Given the description of an element on the screen output the (x, y) to click on. 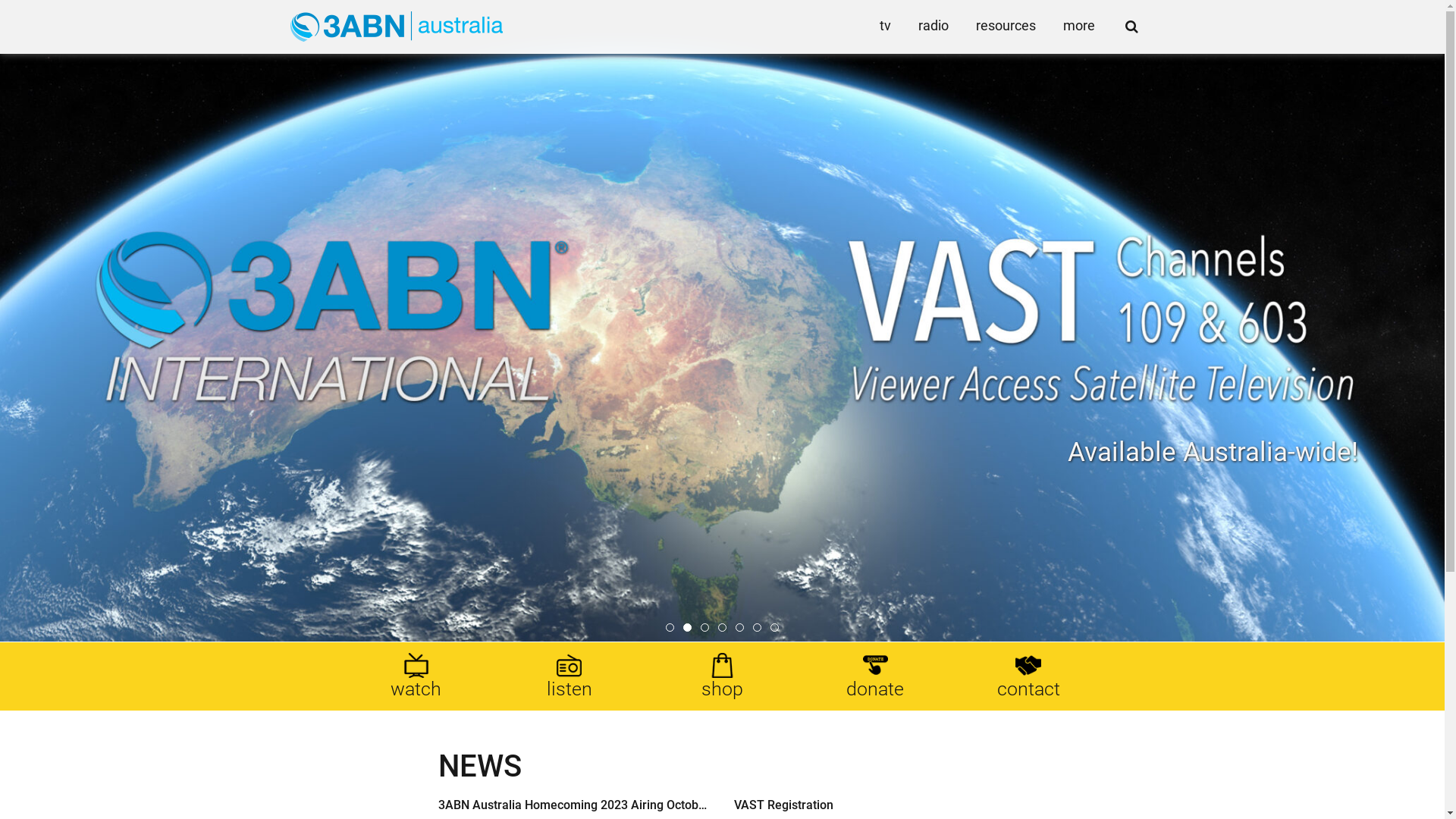
VAST Registration Element type: text (870, 804)
resources Element type: text (1004, 25)
radio Element type: text (932, 25)
3 Element type: text (704, 627)
tv Element type: text (885, 25)
NEWS Element type: text (479, 766)
3ABN International on VAST Channel 603! Element type: hover (722, 320)
6 Element type: text (757, 627)
watch Element type: text (415, 676)
7 Element type: text (774, 627)
contact Element type: text (1027, 676)
2 Element type: text (687, 627)
listen Element type: text (569, 676)
1 Element type: text (669, 627)
4 Element type: text (722, 627)
Go to Home Element type: hover (395, 26)
3ABN Australia Homecoming 2023 Airing October 19! Element type: text (574, 804)
shop Element type: text (722, 676)
5 Element type: text (739, 627)
donate Element type: text (874, 676)
more Element type: text (1078, 25)
